Given the description of an element on the screen output the (x, y) to click on. 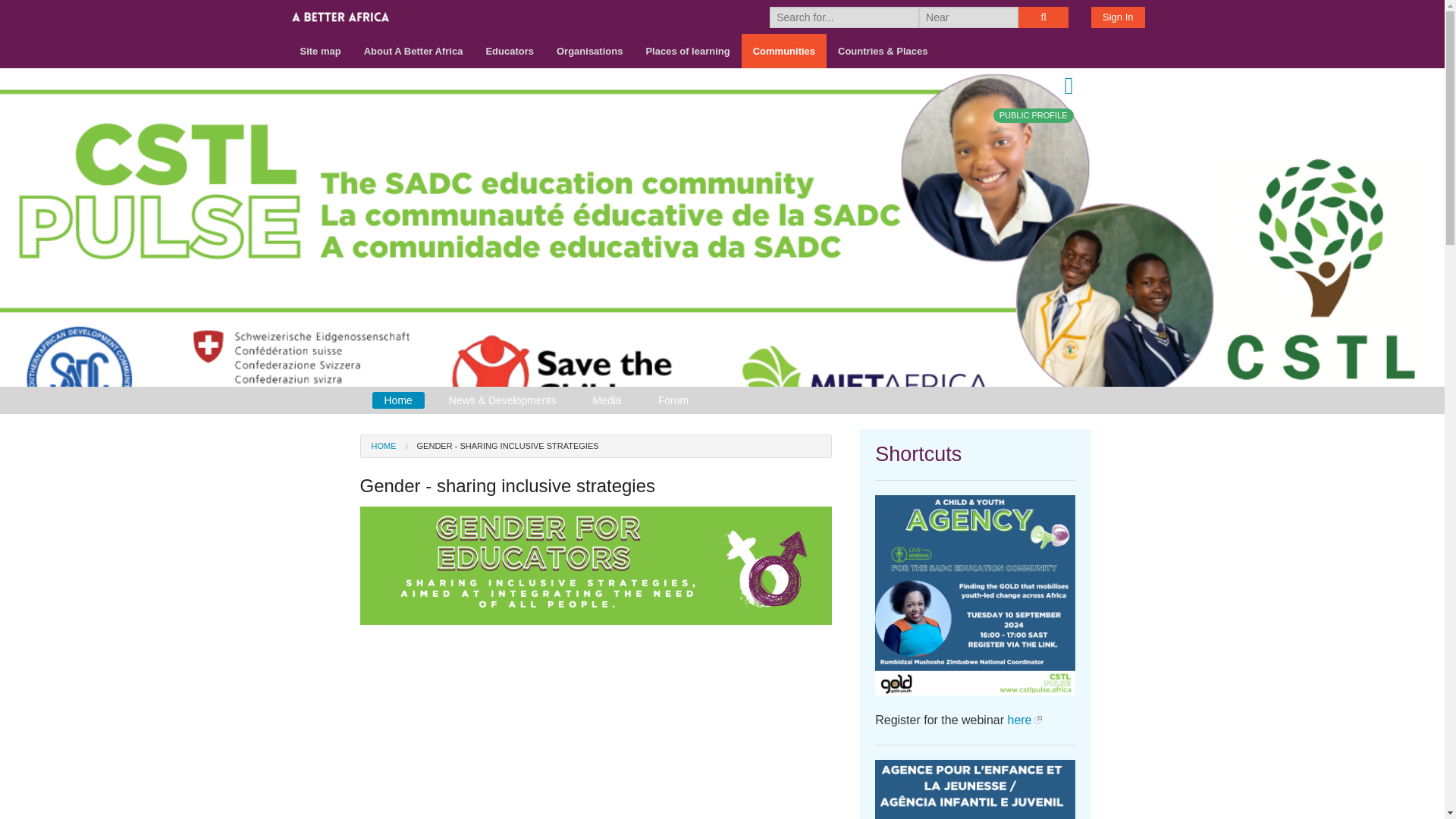
HOME (383, 445)
The content in this profile is visible to everyone (1033, 115)
here (1024, 719)
Forum (673, 400)
Media (606, 400)
Organisations (588, 50)
Site map (320, 50)
Home (397, 400)
About A Better Africa (413, 50)
Educators (509, 50)
